Given the description of an element on the screen output the (x, y) to click on. 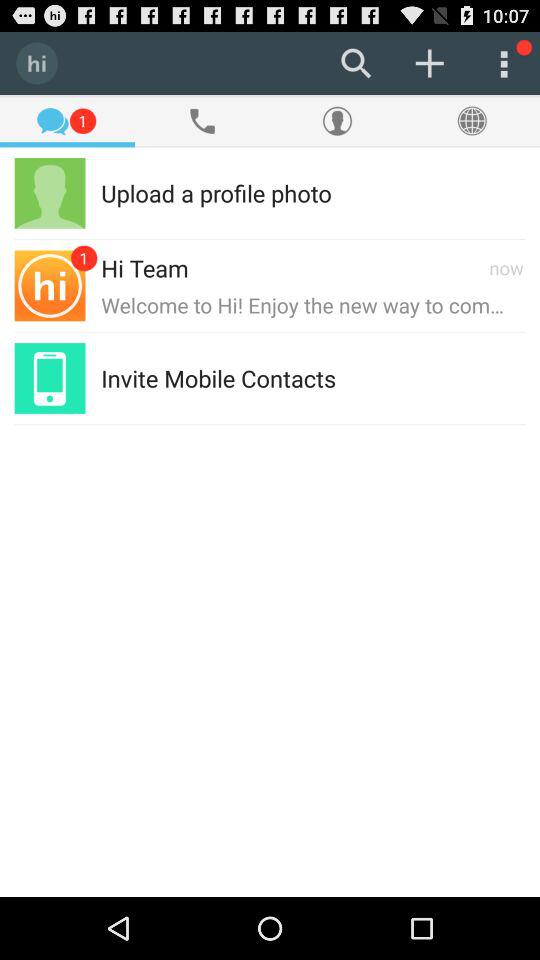
launch the welcome to hi item (313, 304)
